Given the description of an element on the screen output the (x, y) to click on. 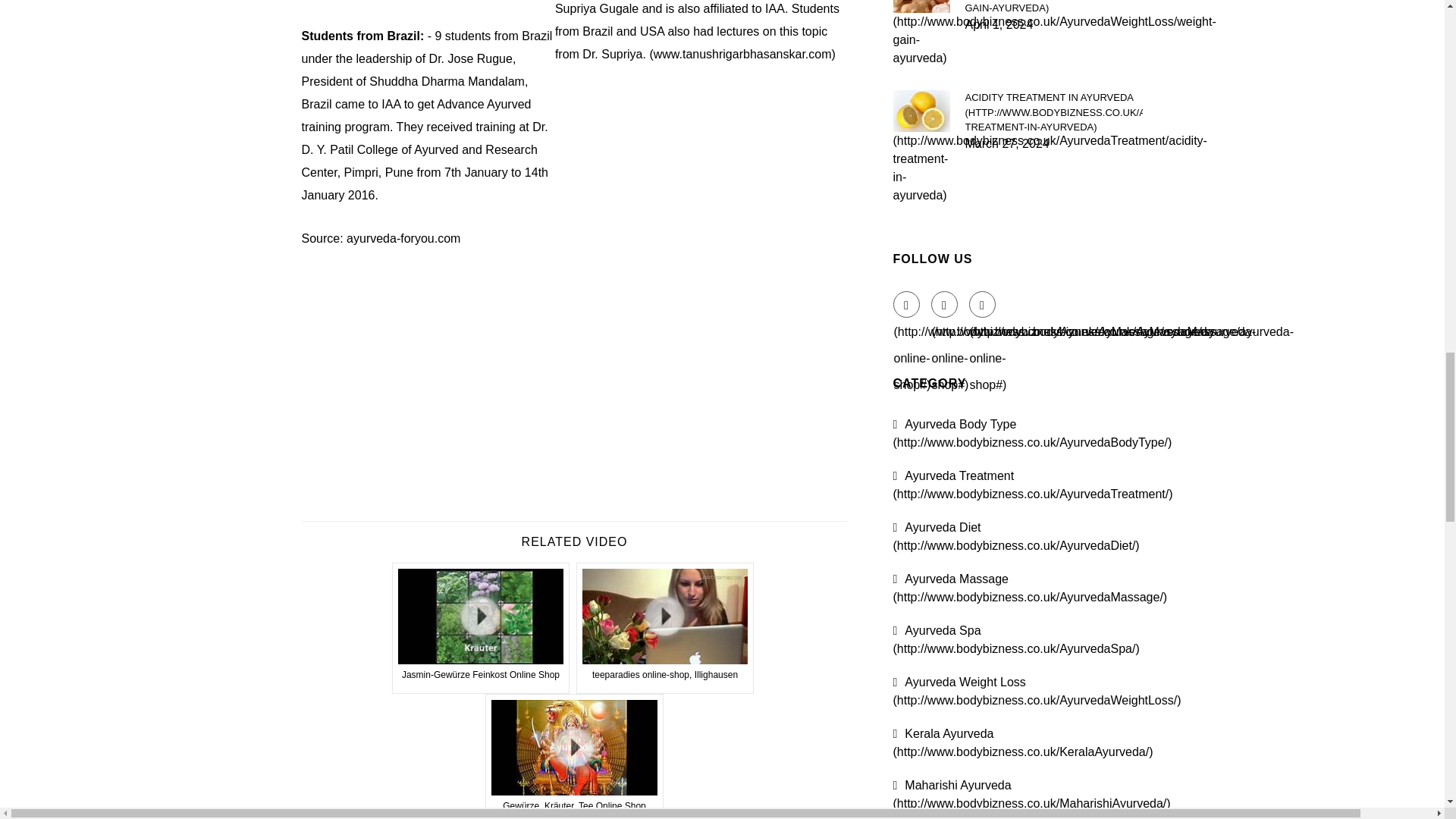
Google Plus (982, 304)
View this video from YouTube (665, 627)
View all posts filed under Ayurveda Body Type (1032, 432)
View all posts filed under Ayurveda Massage (1030, 587)
View all posts filed under Ayurveda Diet (1016, 536)
Facebook (906, 304)
View this video from YouTube (480, 627)
WEIGHT GAIN AYURVEDA (1052, 7)
ACIDITY TREATMENT IN AYURVEDA (1052, 112)
Advertisement (574, 354)
